Given the description of an element on the screen output the (x, y) to click on. 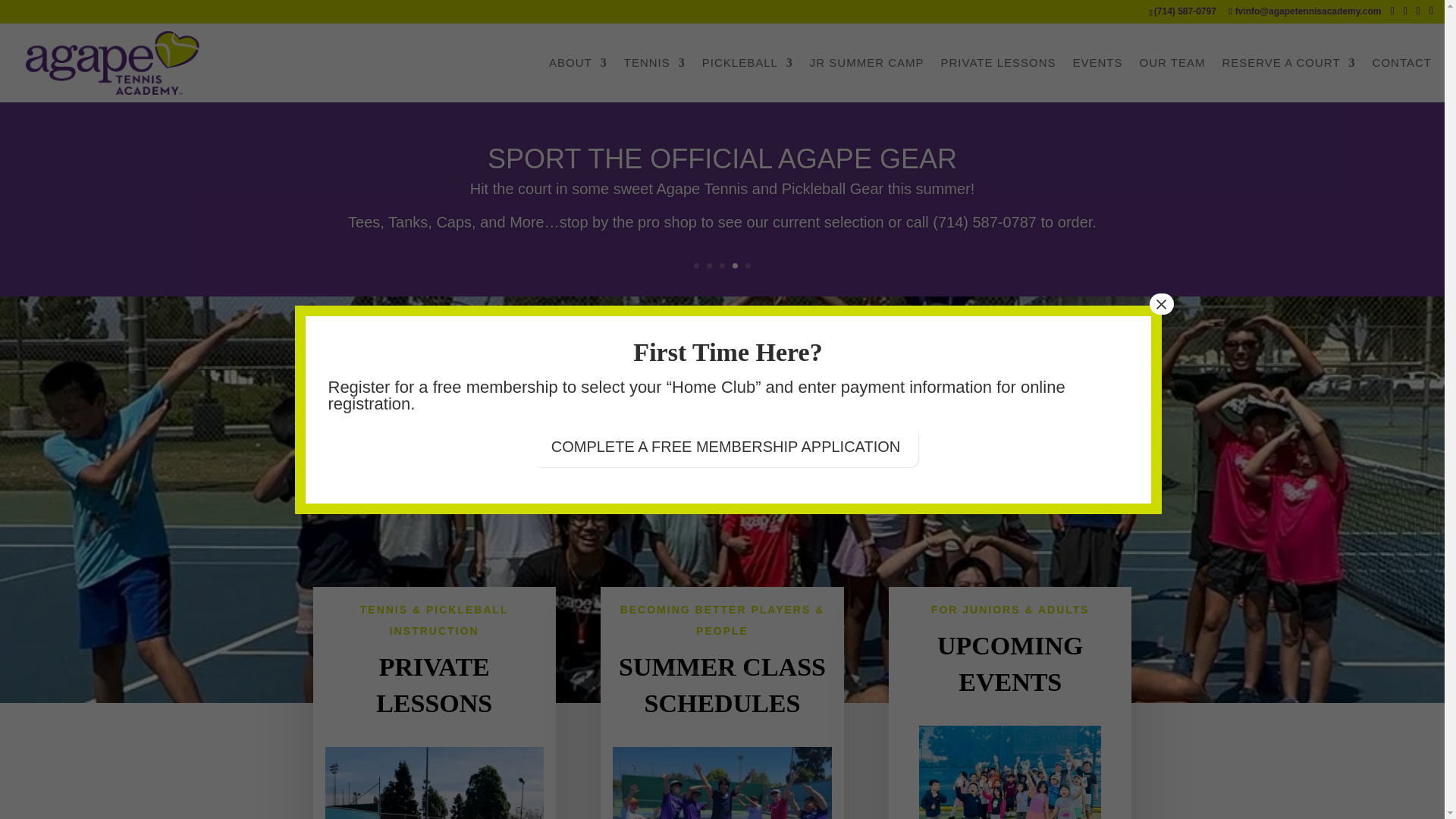
PRIVATE LESSONS (998, 79)
JR SUMMER CAMP (866, 79)
TENNIS (654, 79)
PICKLEBALL (747, 79)
CONTACT (1402, 79)
EVENTS (1097, 79)
RESERVE A COURT (1288, 79)
OUR TEAM (1172, 79)
ABOUT (577, 79)
